Given the description of an element on the screen output the (x, y) to click on. 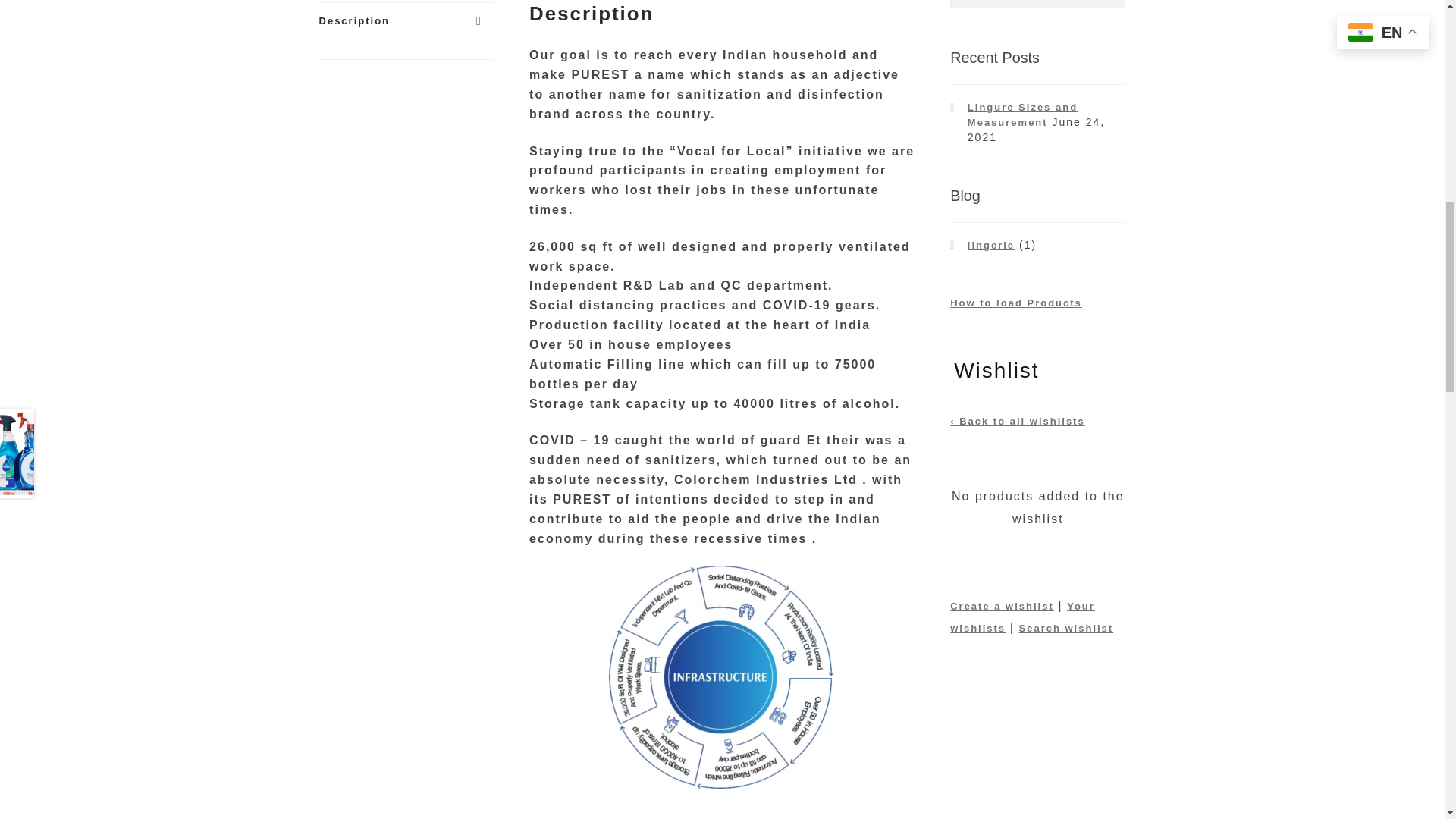
Back to all wishlists (1017, 420)
Search wishlist (1066, 627)
Create a wishlist (1002, 605)
Manage wishlists (1022, 617)
